Given the description of an element on the screen output the (x, y) to click on. 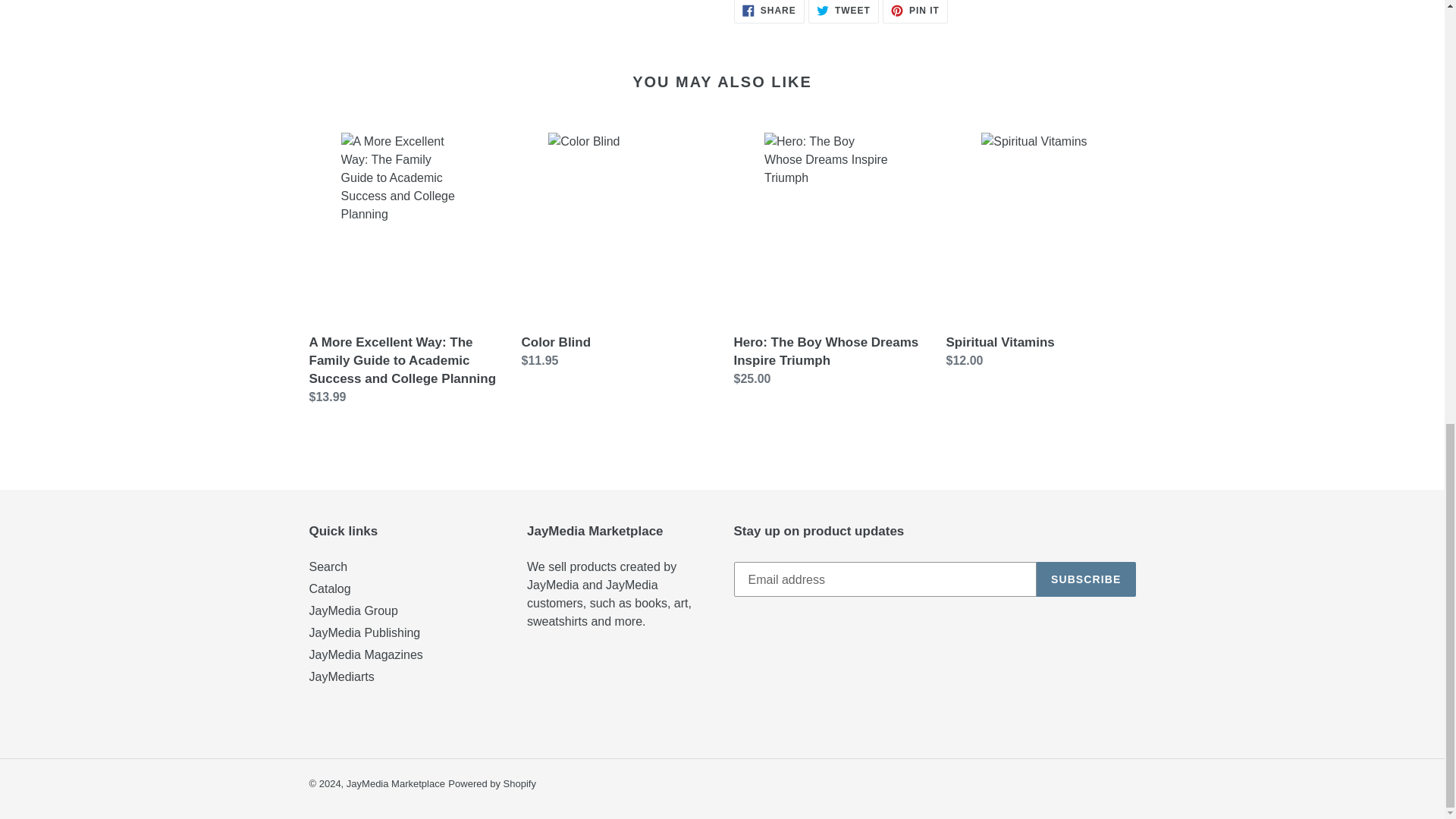
Powered by Shopify (491, 783)
JayMediarts (341, 676)
Search (327, 566)
JayMedia Marketplace (769, 11)
JayMedia Magazines (395, 783)
JayMedia Group (365, 654)
JayMedia Publishing (352, 610)
